Given the description of an element on the screen output the (x, y) to click on. 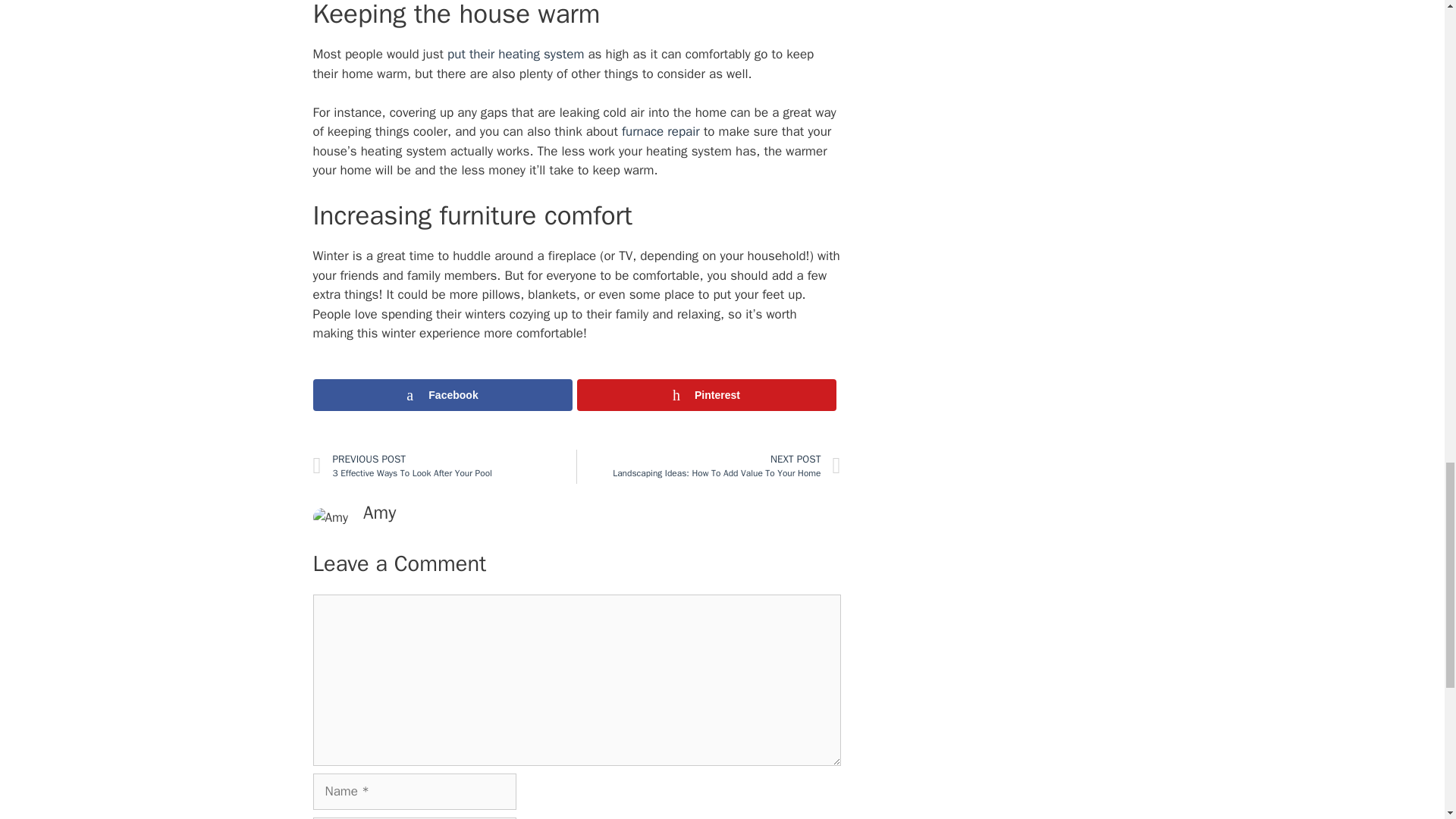
Pinterest (705, 395)
furnace repair (660, 131)
put their heating system (514, 53)
Facebook (444, 466)
